Given the description of an element on the screen output the (x, y) to click on. 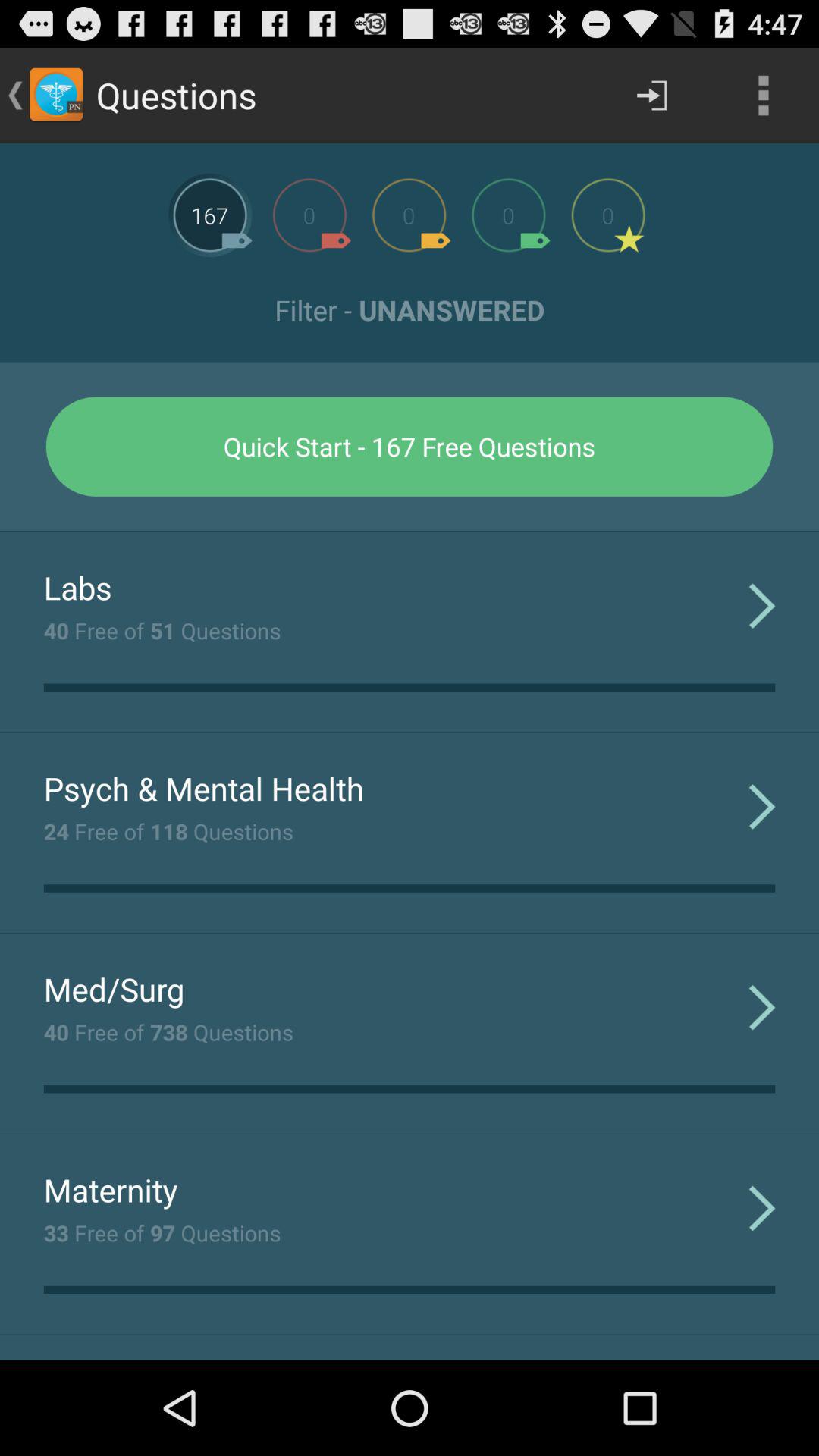
press the app below the 40 free of app (203, 787)
